Given the description of an element on the screen output the (x, y) to click on. 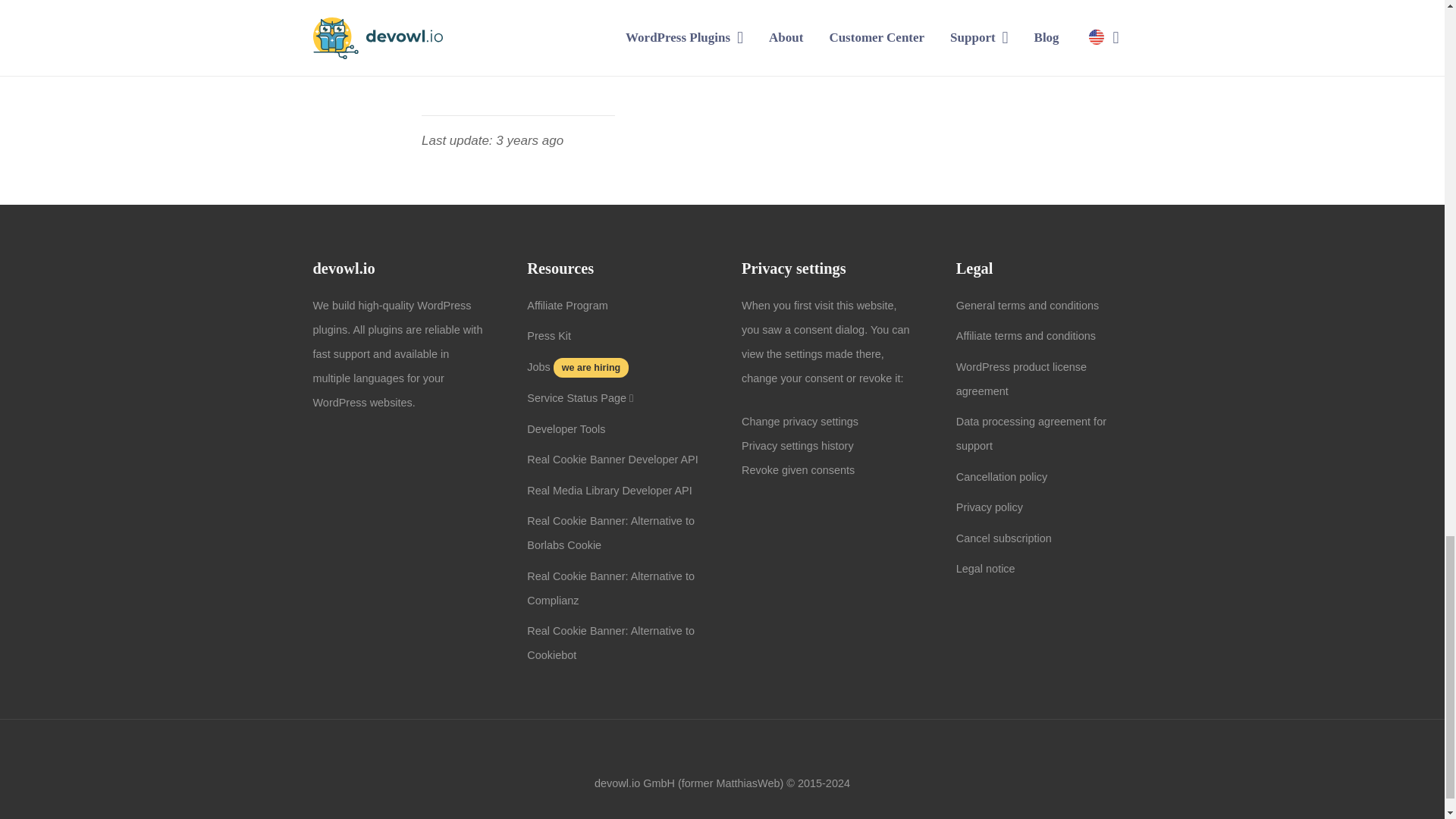
Revoke given consents (797, 469)
Jobs (538, 367)
Affiliate Program (567, 305)
Change privacy settings (800, 421)
Privacy settings history (797, 445)
we are hiring (589, 367)
General terms and conditions (1027, 305)
Real Cookie Banner: Alternative to Borlabs Cookie (610, 533)
Real Cookie Banner: Alternative to Cookiebot (610, 642)
Press Kit (548, 336)
Developer Tools (566, 428)
Real Media Library Developer API (609, 490)
Affiliate terms and conditions (1026, 336)
Real Cookie Banner: Alternative to Complianz (610, 588)
Real Cookie Banner Developer API (612, 459)
